Given the description of an element on the screen output the (x, y) to click on. 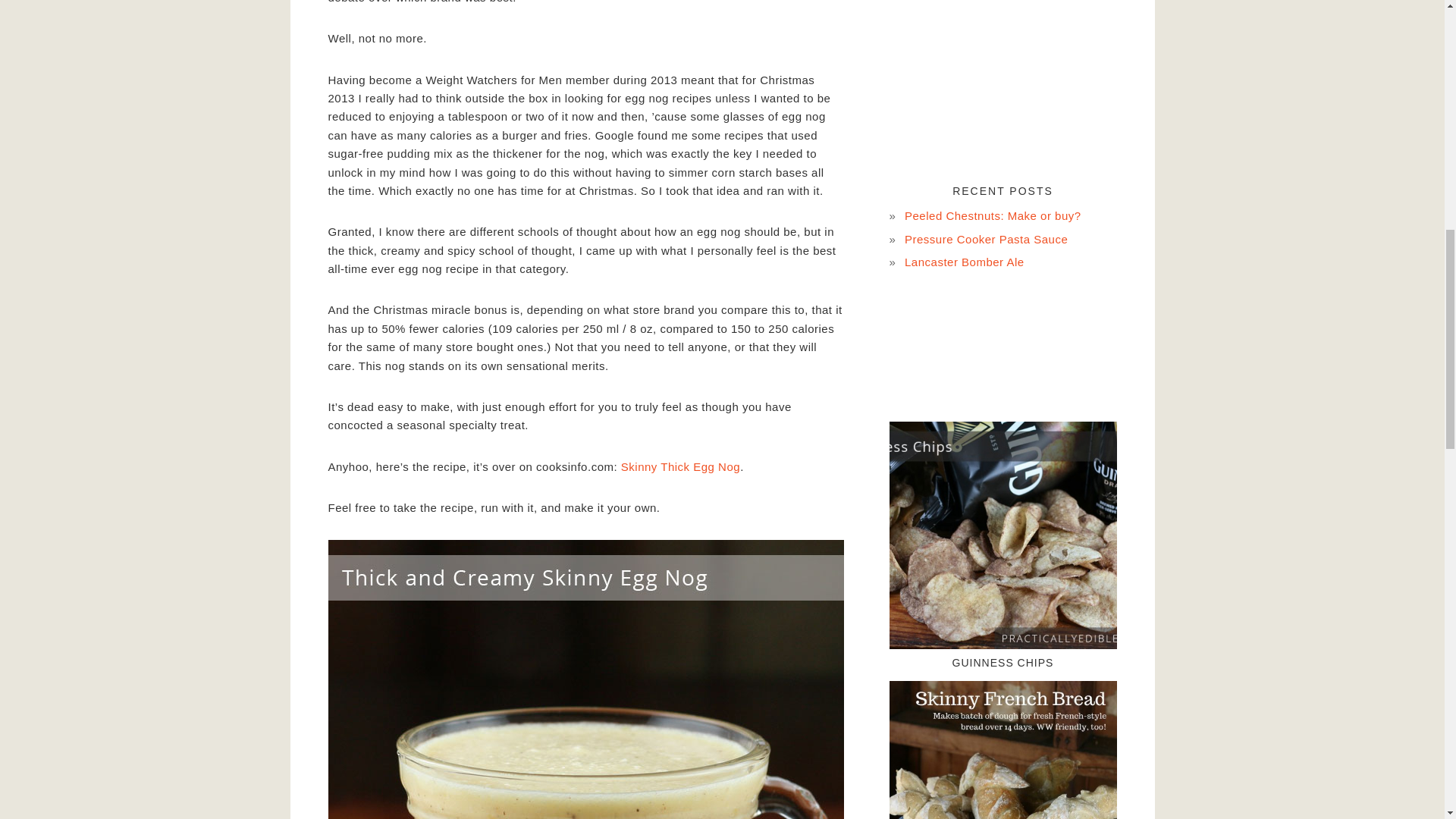
Lancaster Bomber Ale (964, 261)
GUINNESS CHIPS (1003, 662)
Guinness Chips (1003, 662)
Skinny Thick Sugar Free Low Calorie Egg Nog (680, 466)
Guinness Chips (1002, 535)
Advertisement (1002, 83)
Skinny Thick Egg Nog (680, 466)
Peeled Chestnuts: Make or buy? (992, 215)
Pressure Cooker Pasta Sauce (985, 238)
